Given the description of an element on the screen output the (x, y) to click on. 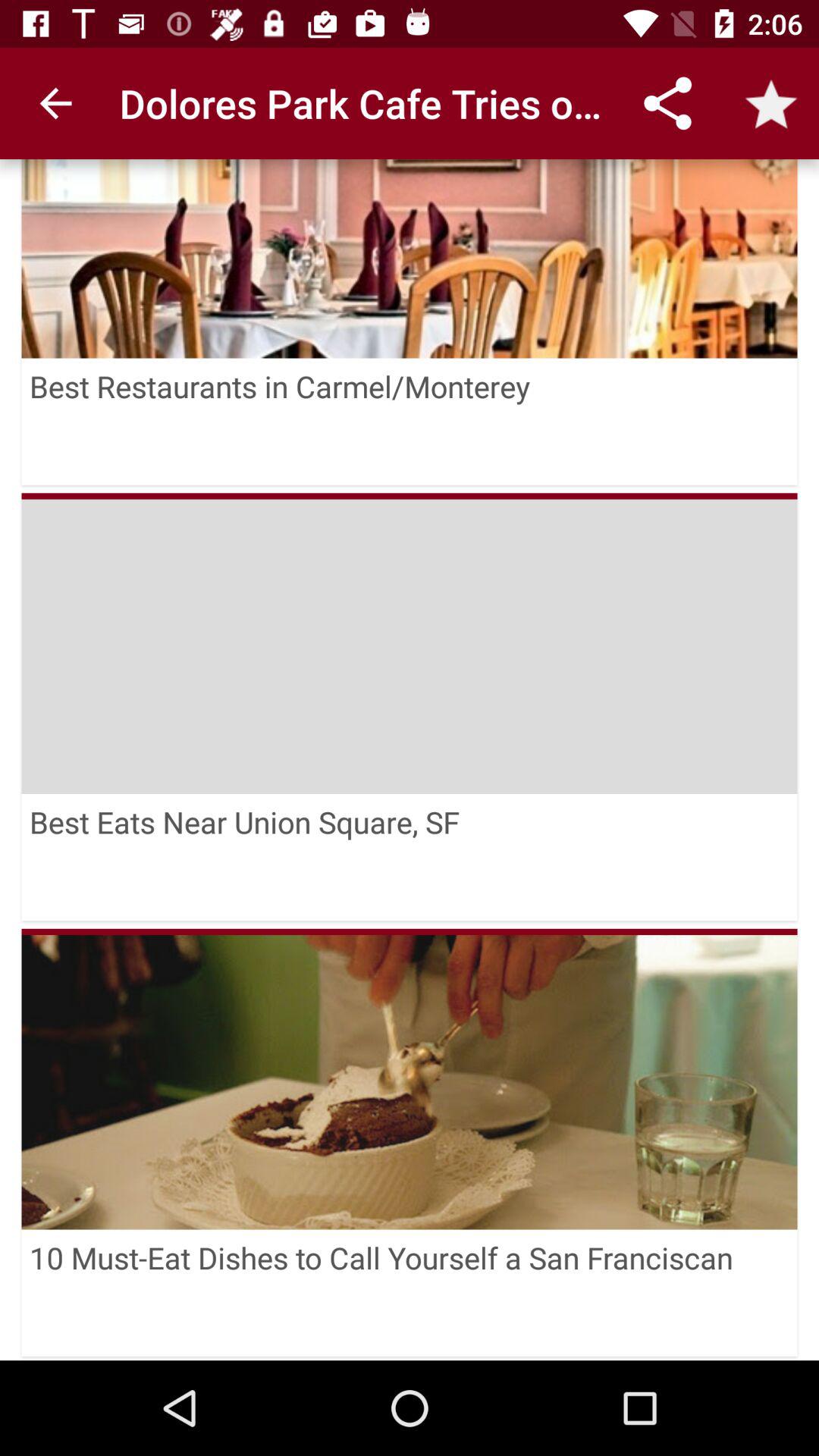
select icon above best eats near item (409, 496)
